Given the description of an element on the screen output the (x, y) to click on. 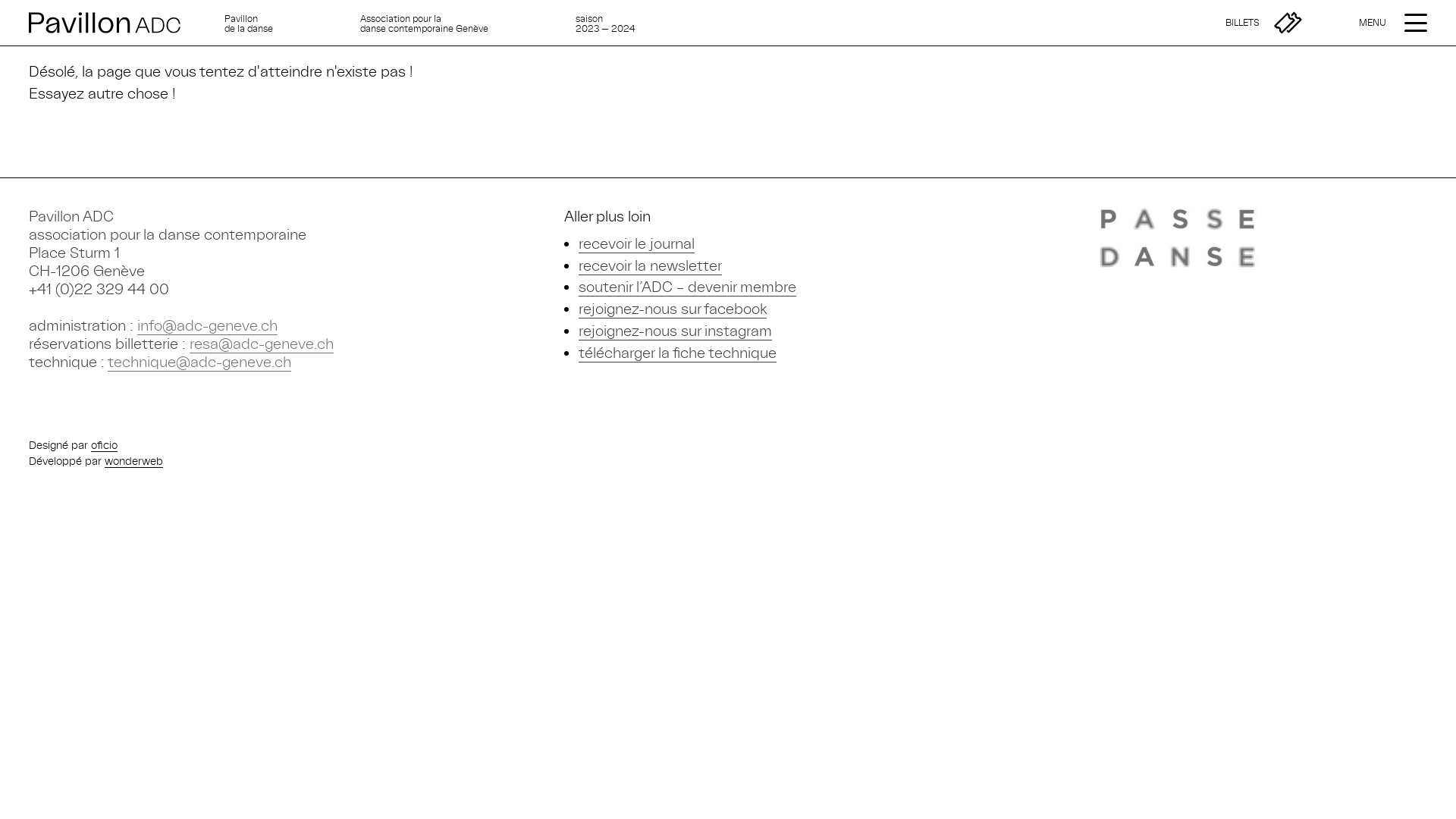
technique@adc-geneve.ch Element type: text (199, 361)
recevoir la newsletter Element type: text (649, 265)
info@adc-geneve.ch Element type: text (207, 325)
rejoignez-nous sur instagram Element type: text (674, 330)
oficio Element type: text (104, 444)
recevoir le journal Element type: text (636, 243)
resa@adc-geneve.ch Element type: text (261, 343)
wonderweb Element type: text (133, 460)
MENU Element type: text (1415, 22)
rejoignez-nous sur facebook Element type: text (672, 308)
BILLETS Element type: text (1263, 22)
